Given the description of an element on the screen output the (x, y) to click on. 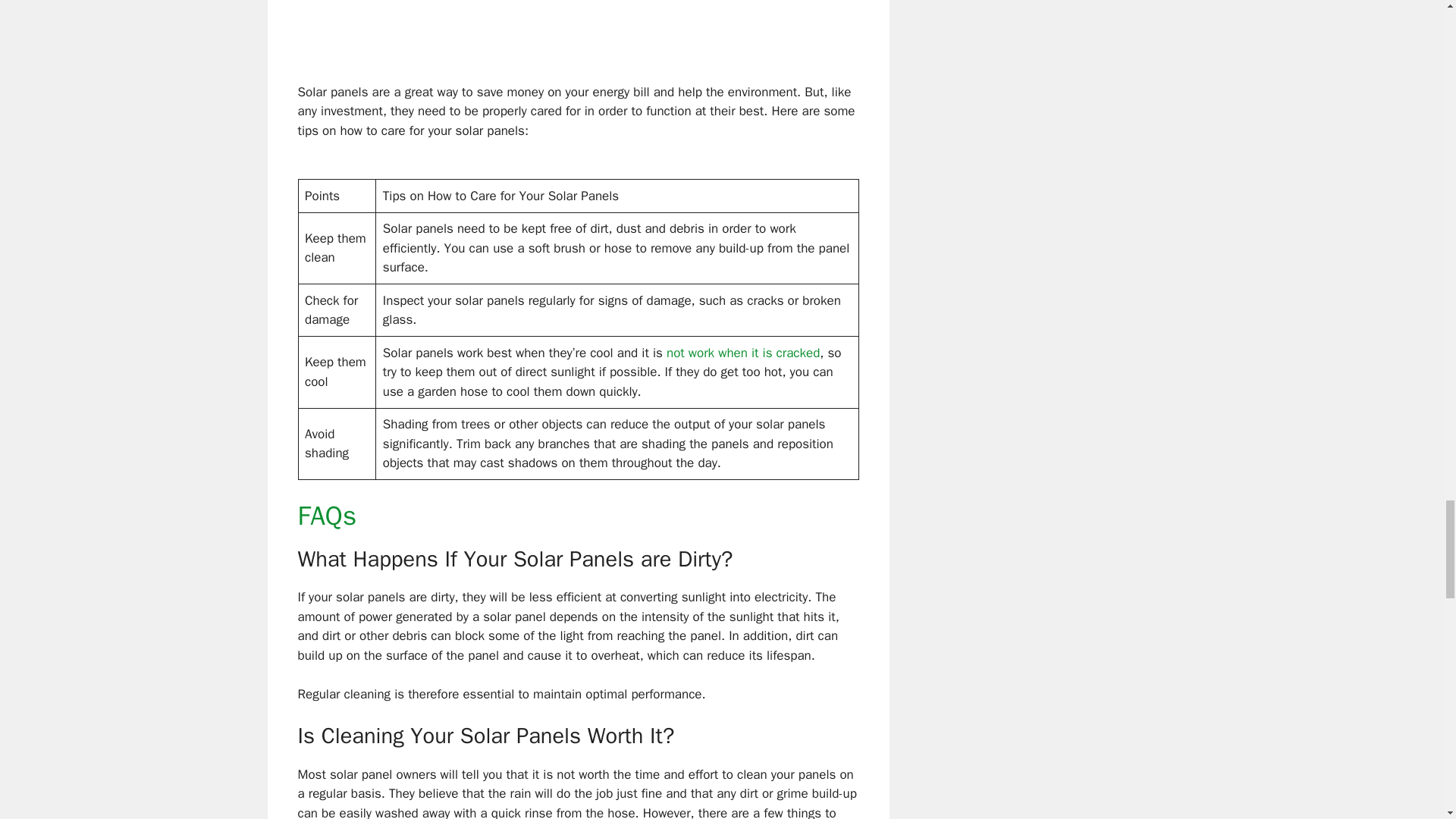
not work when it is cracked (742, 352)
